Given the description of an element on the screen output the (x, y) to click on. 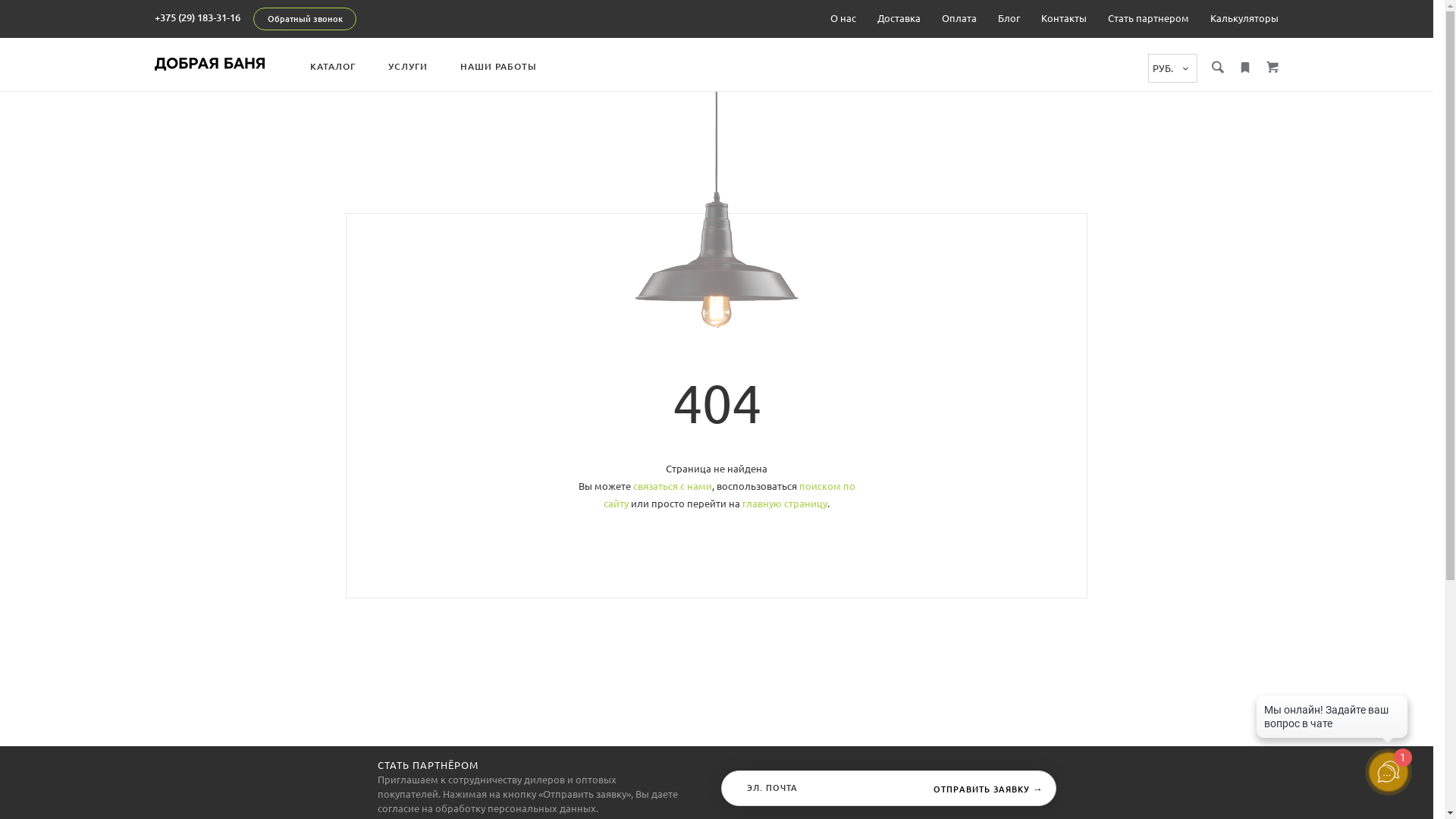
amoCRM Live Chat Element type: hover (1331, 720)
+375 (29) 183-31-16 Element type: text (197, 17)
